Given the description of an element on the screen output the (x, y) to click on. 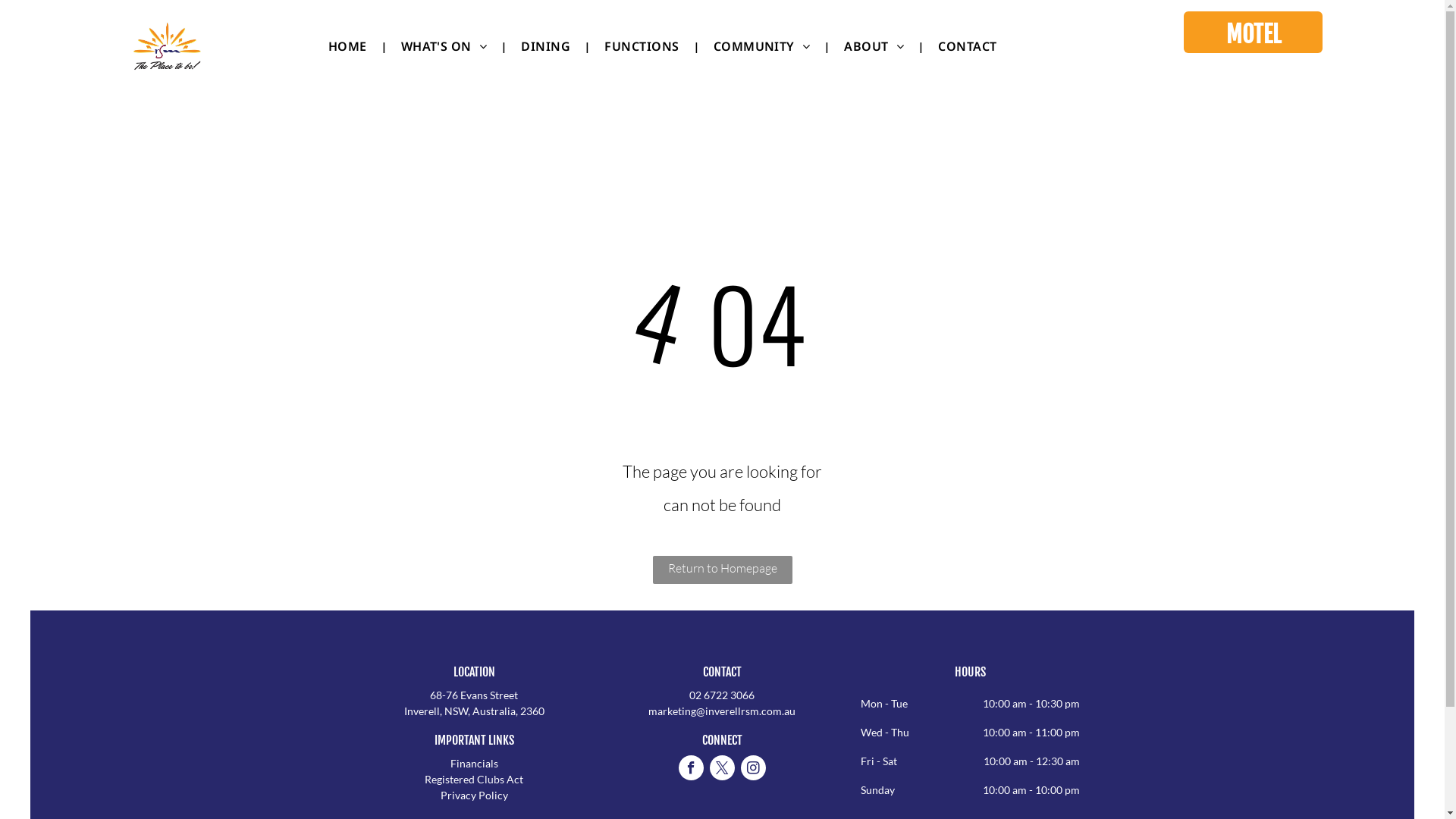
Registered Clubs Act Element type: text (473, 778)
Return to Homepage Element type: text (721, 569)
MOTEL Element type: text (1252, 32)
WHAT'S ON Element type: text (443, 45)
Financials Element type: text (474, 762)
HOME Element type: text (347, 45)
Privacy Policy Element type: text (474, 794)
DINING Element type: text (545, 45)
marketing@inverellrsm.com.au Element type: text (721, 710)
02 6722 3066 Element type: text (721, 694)
ABOUT Element type: text (873, 45)
CONTACT Element type: text (966, 45)
FUNCTIONS Element type: text (641, 45)
COMMUNITY Element type: text (761, 45)
